Given the description of an element on the screen output the (x, y) to click on. 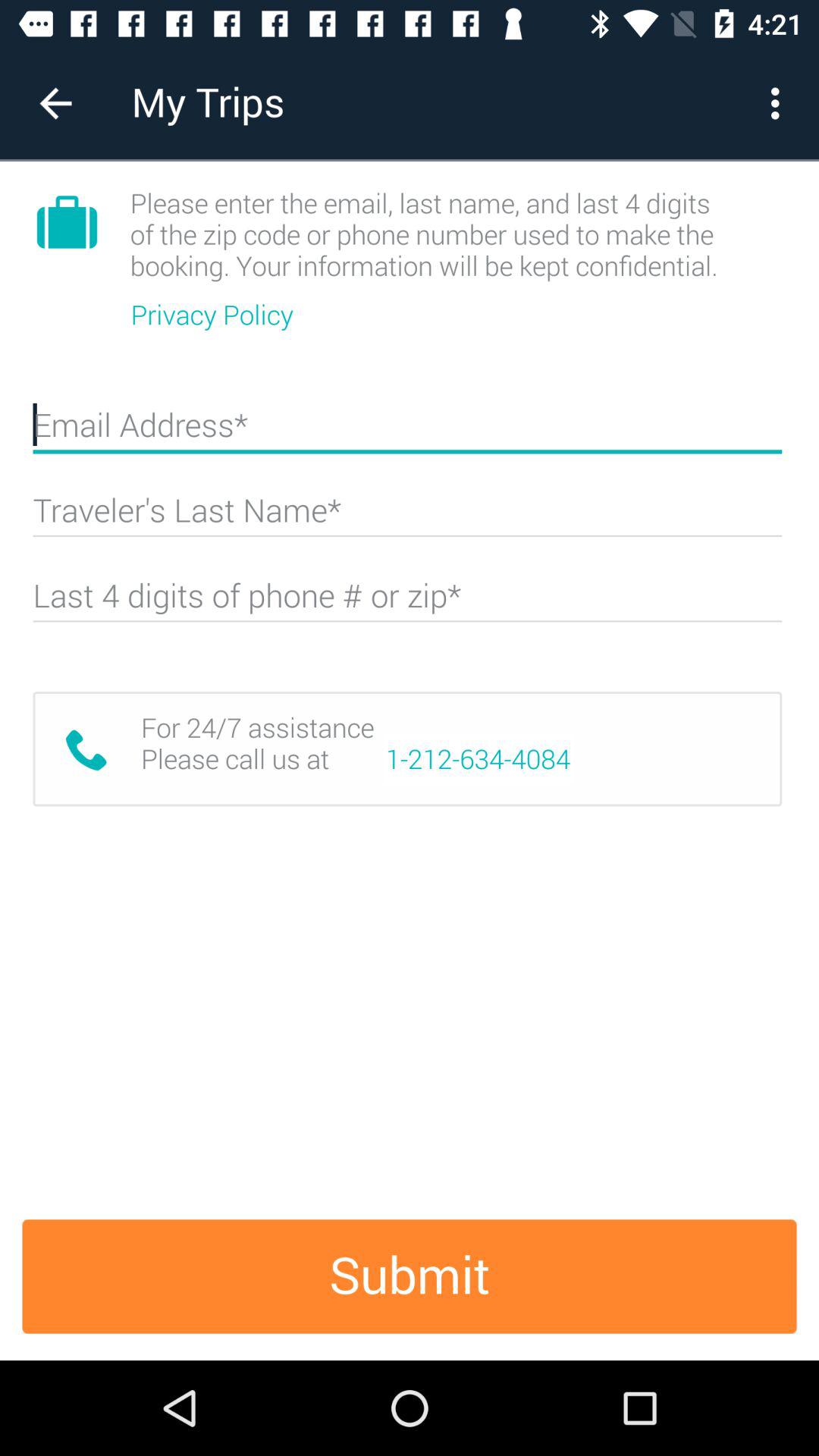
enter 4 last digits of phone or zip code (407, 601)
